Given the description of an element on the screen output the (x, y) to click on. 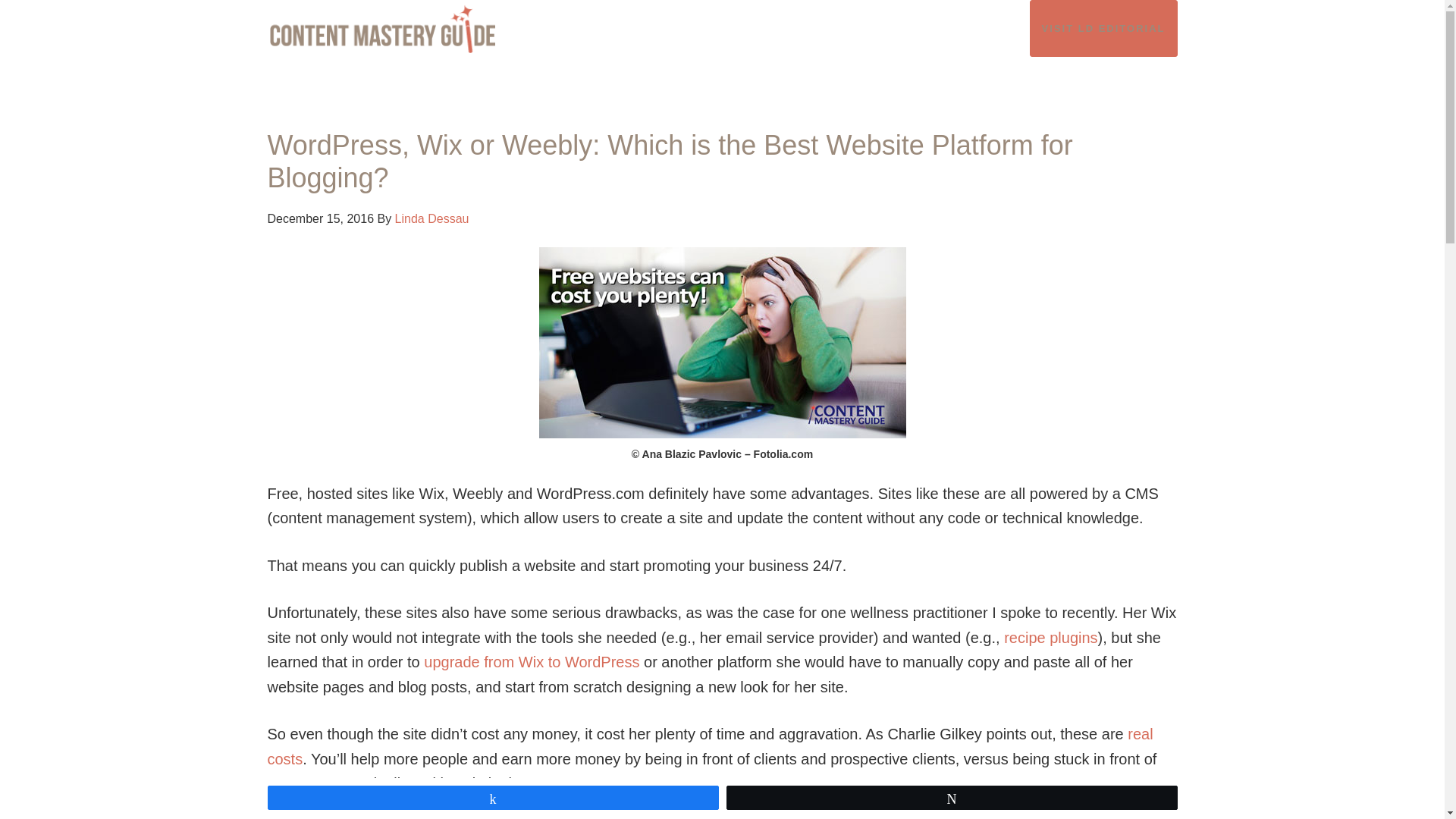
upgrade from Wix to WordPress (531, 661)
real costs (709, 746)
Content Mastery Guide (403, 28)
VISIT LD EDITORIAL (1103, 28)
Linda Dessau (431, 218)
recipe plugins (1050, 637)
